Given the description of an element on the screen output the (x, y) to click on. 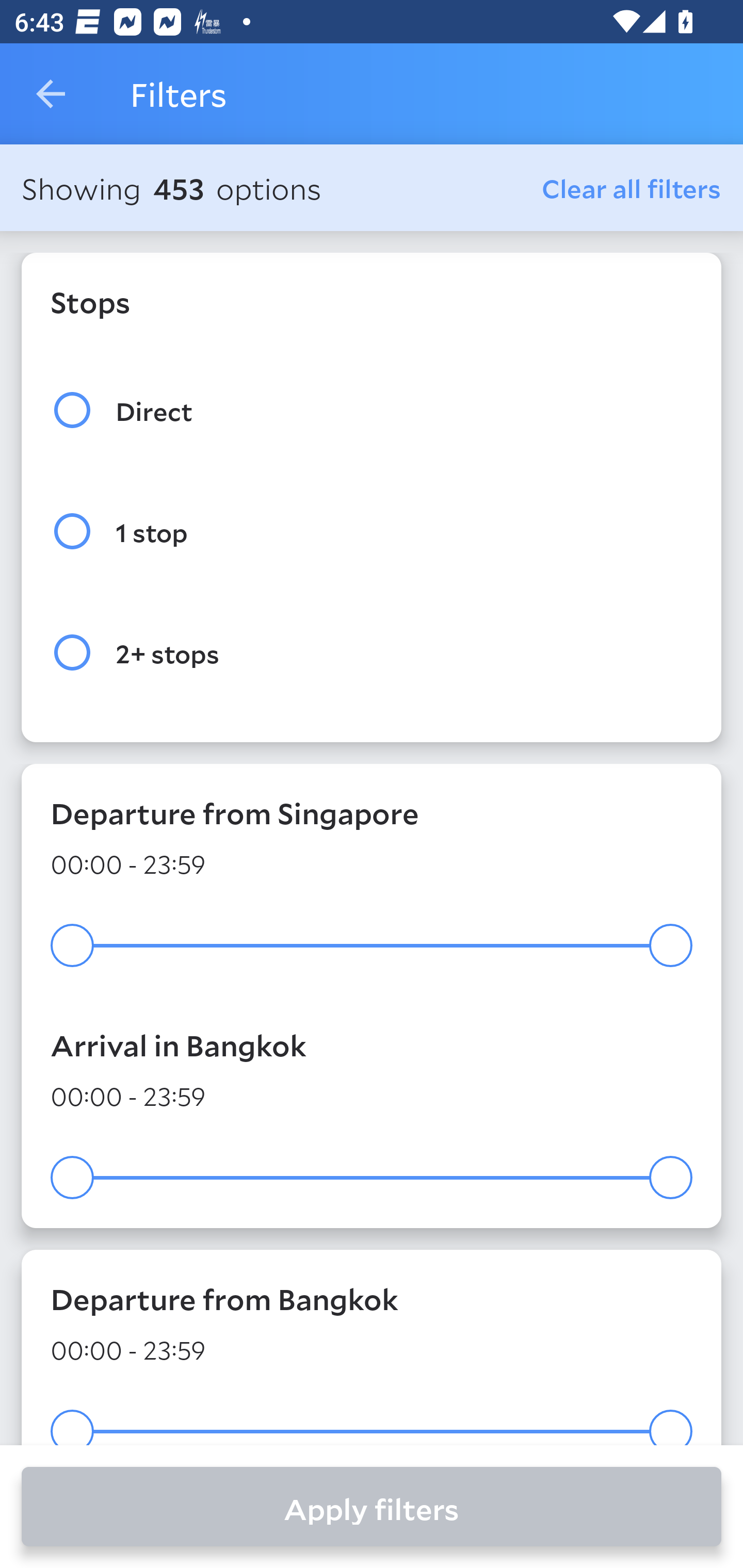
Navigate up (50, 93)
Clear all filters (631, 187)
Direct (371, 409)
1 stop (371, 531)
2+ stops (371, 652)
Apply filters (371, 1506)
